Given the description of an element on the screen output the (x, y) to click on. 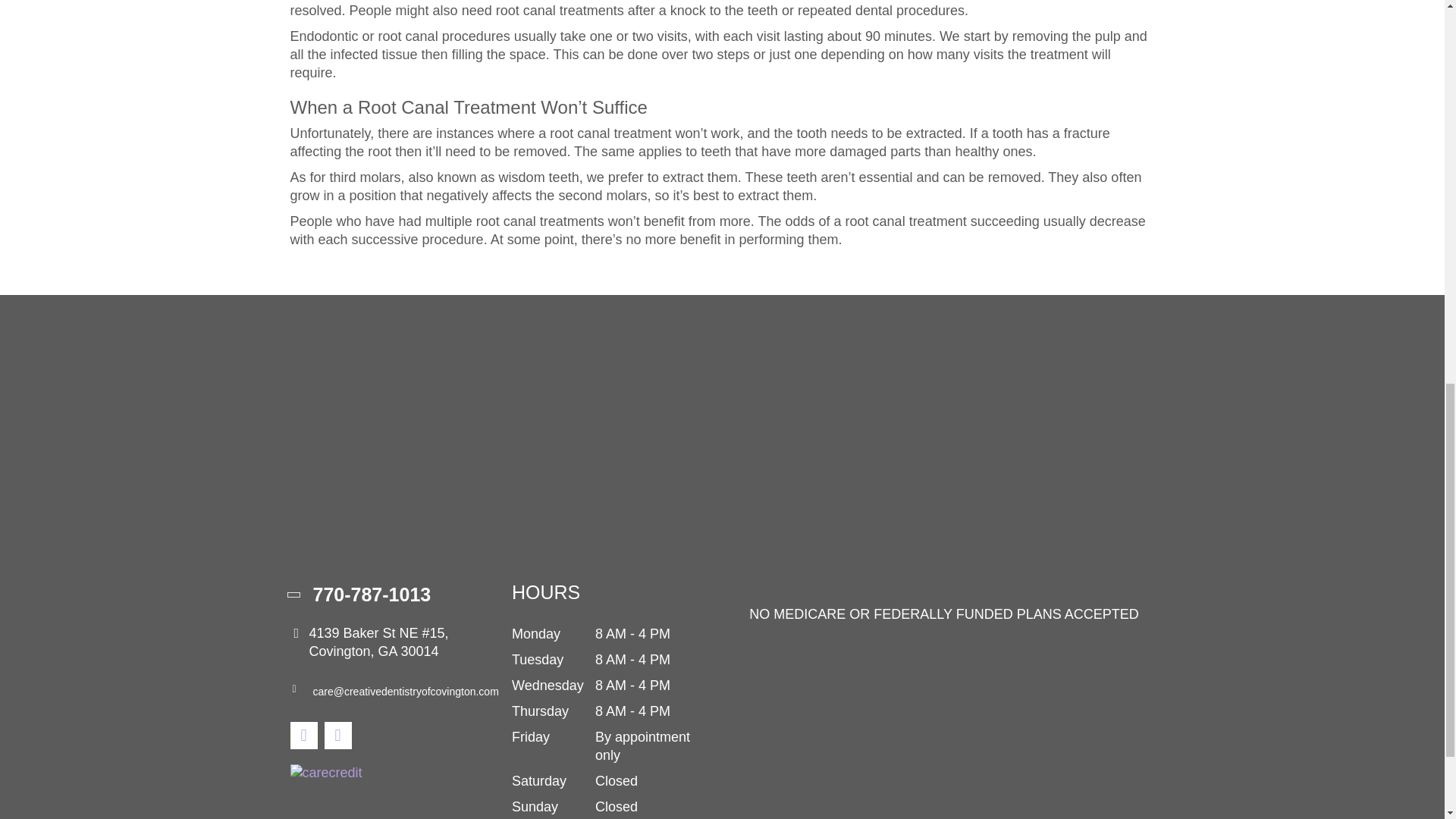
Instagram (338, 735)
Facebook (303, 735)
